Given the description of an element on the screen output the (x, y) to click on. 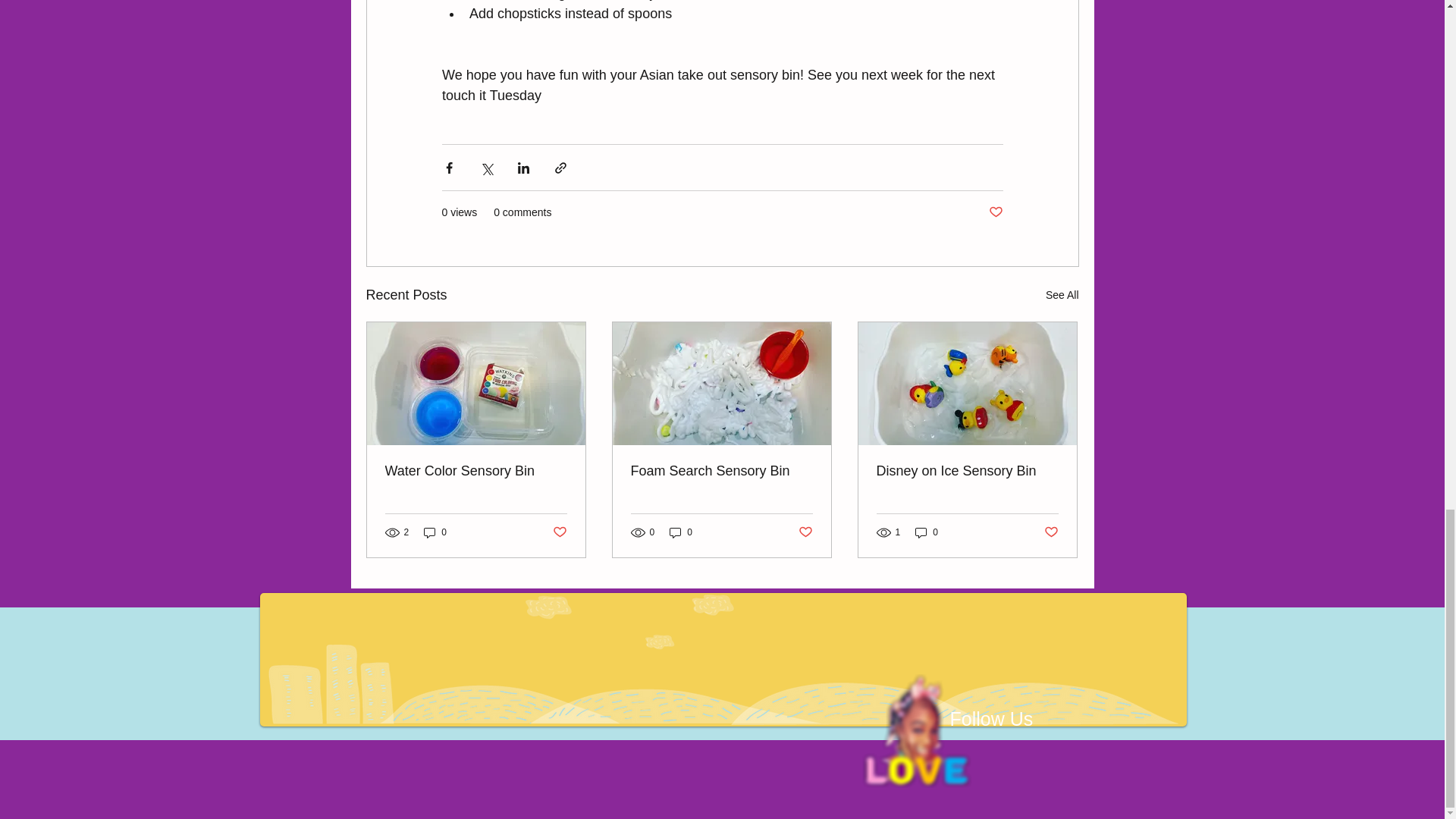
0 (681, 532)
0 (926, 532)
Water Color Sensory Bin (476, 471)
Post not marked as liked (995, 212)
0 (435, 532)
Post not marked as liked (1050, 532)
Post not marked as liked (804, 532)
Post not marked as liked (558, 532)
Foam Search Sensory Bin (721, 471)
Disney on Ice Sensory Bin (967, 471)
